Given the description of an element on the screen output the (x, y) to click on. 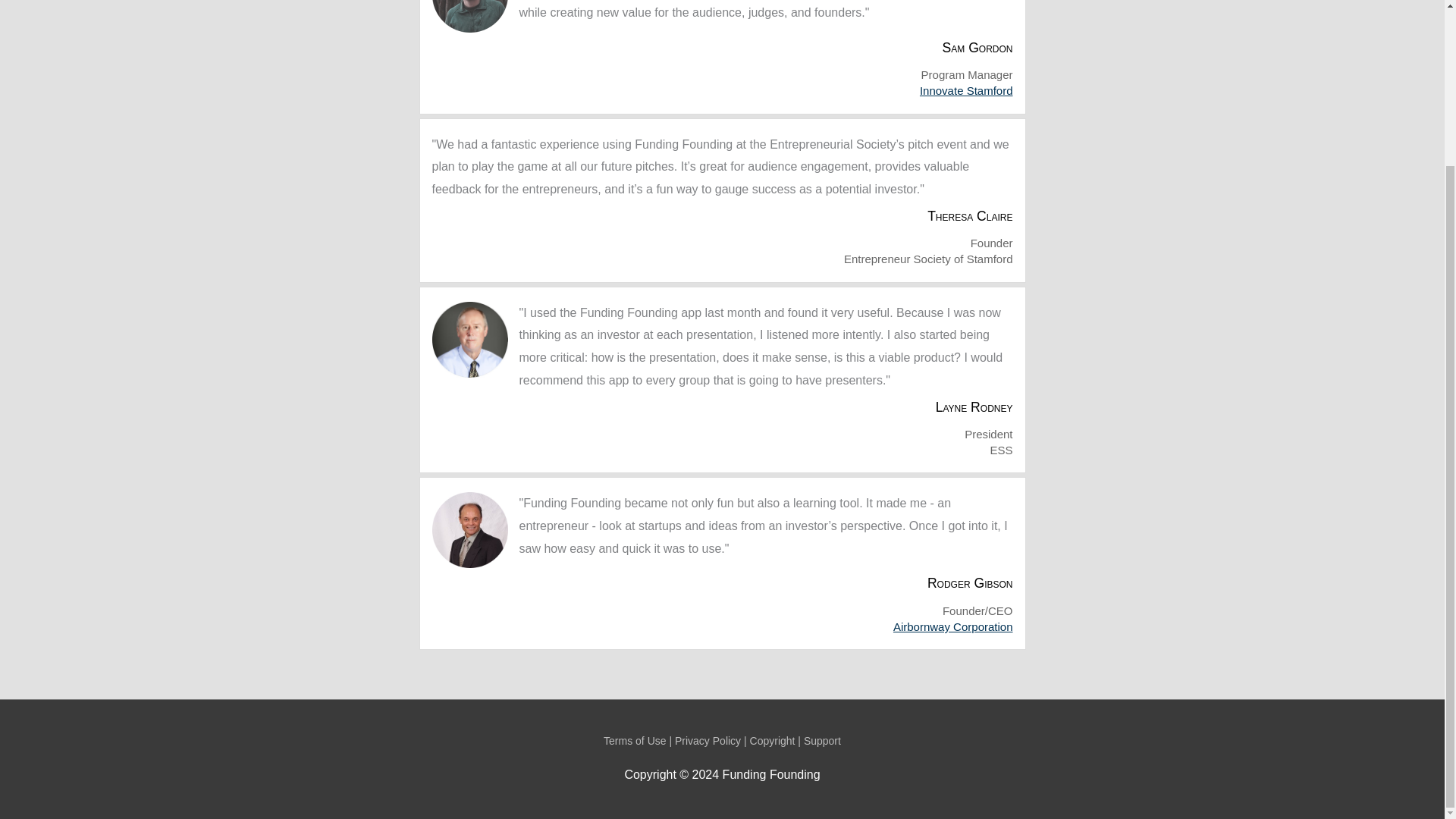
Airbornway Corporation (953, 626)
Terms of Use (634, 740)
Copyright (771, 740)
Privacy Policy (708, 740)
Innovate Stamford (966, 90)
Support (822, 740)
